Given the description of an element on the screen output the (x, y) to click on. 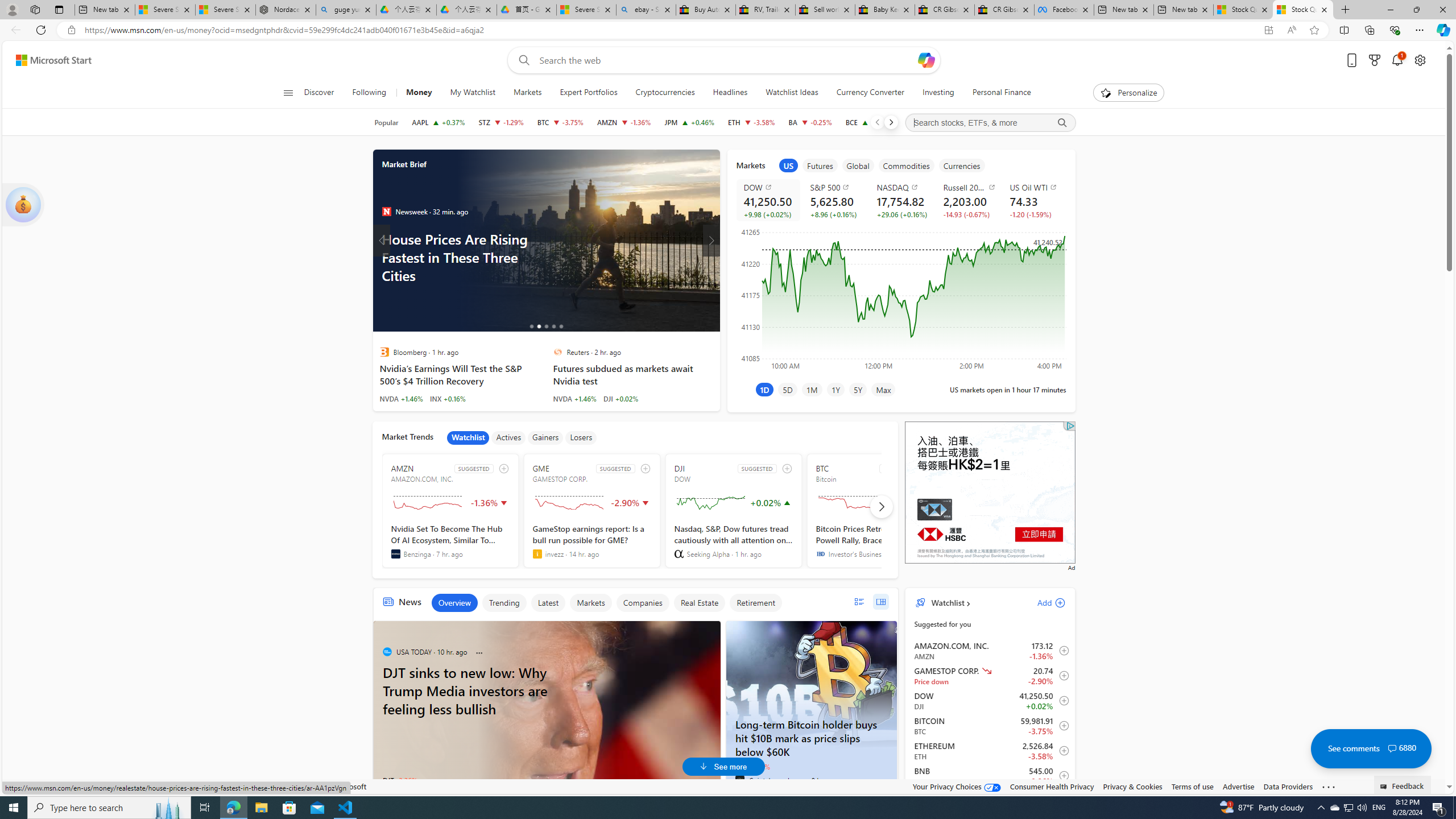
Data Providers (1288, 786)
Real Estate (698, 602)
Cryptocurrencies (665, 92)
Markets (526, 92)
Headlines (730, 92)
US (787, 164)
Watchlist (467, 437)
